Given the description of an element on the screen output the (x, y) to click on. 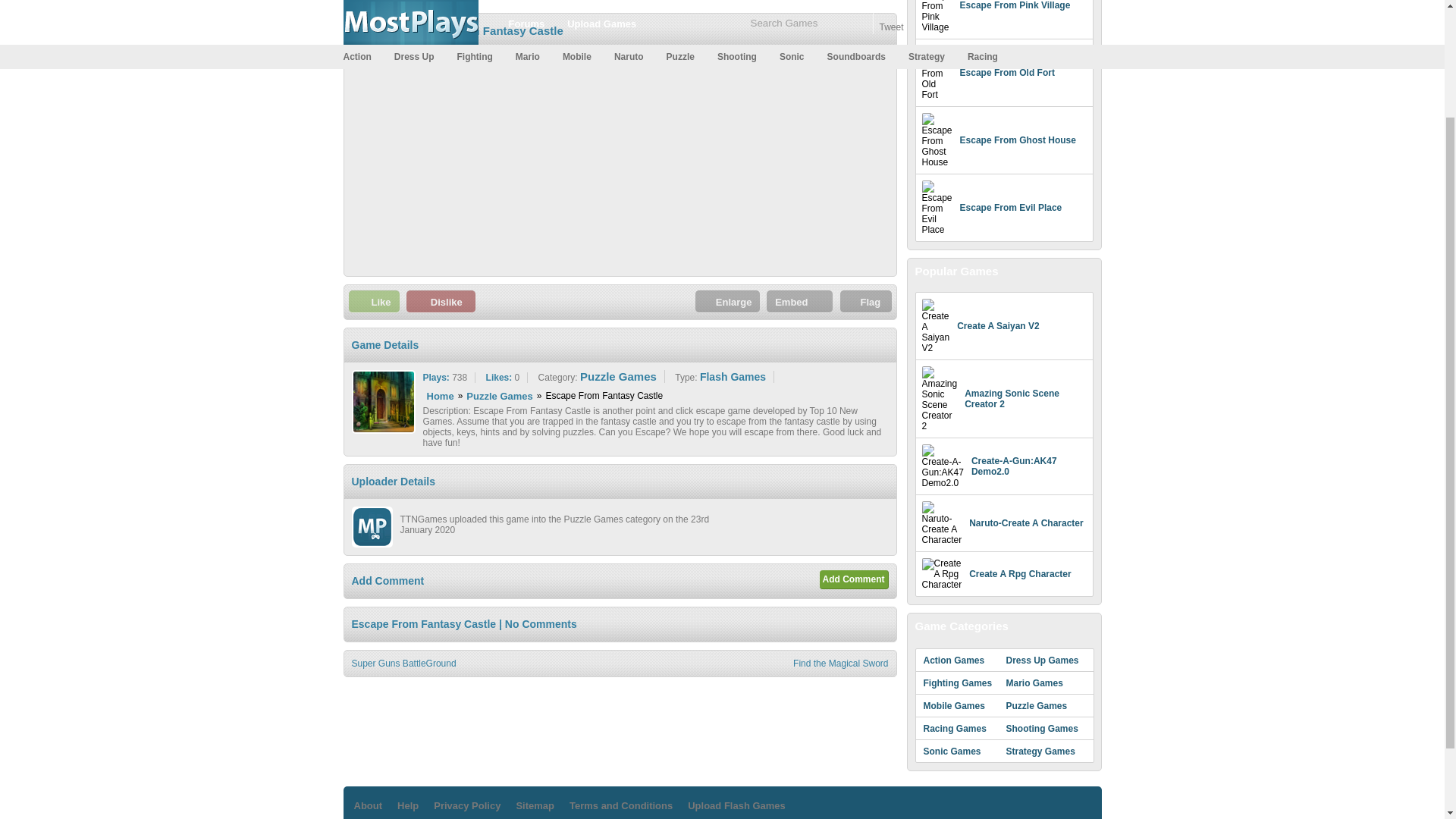
Tweet (890, 27)
Escape From Fantasy Castle (484, 30)
Embed (799, 301)
Like (373, 301)
Dislike (441, 301)
Enlarge (727, 301)
